Given the description of an element on the screen output the (x, y) to click on. 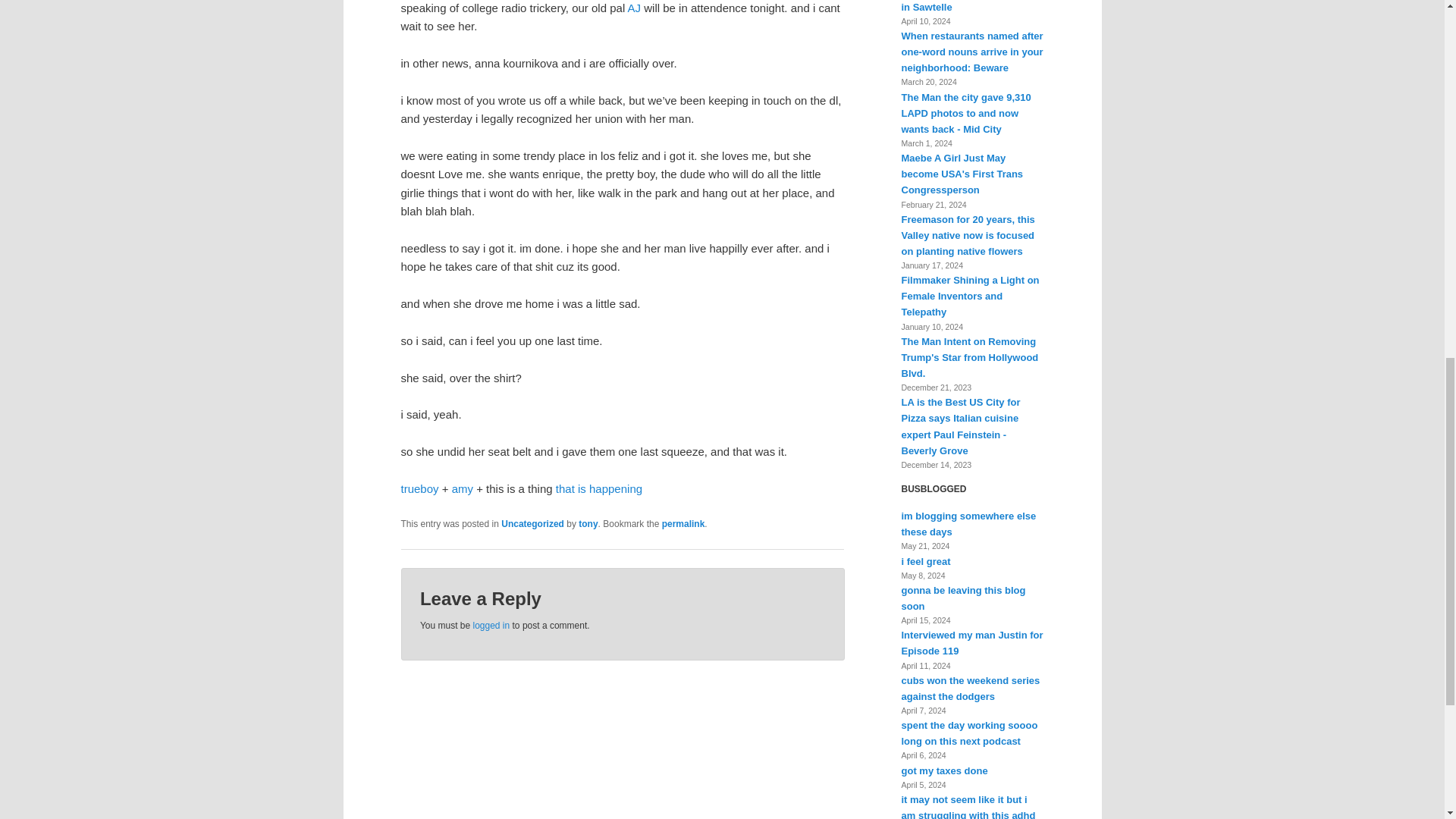
Uncategorized (532, 523)
amy (462, 488)
permalink (683, 523)
logged in (490, 624)
that is happening (599, 488)
trueboy (419, 488)
tony (587, 523)
Permalink to do you know that tsar is playing tonight? (683, 523)
AJ (634, 7)
